Given the description of an element on the screen output the (x, y) to click on. 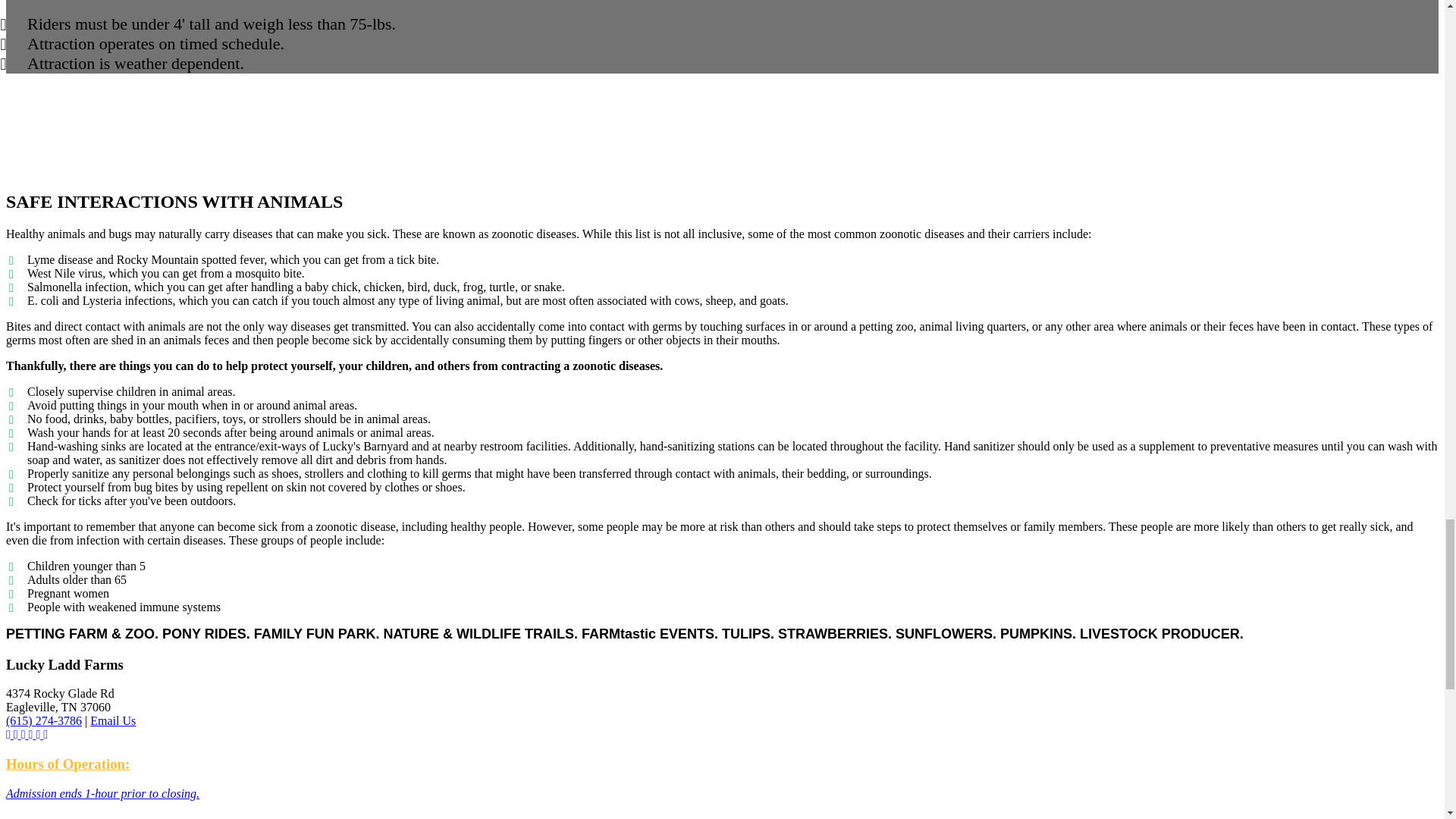
Address (60, 700)
